Given the description of an element on the screen output the (x, y) to click on. 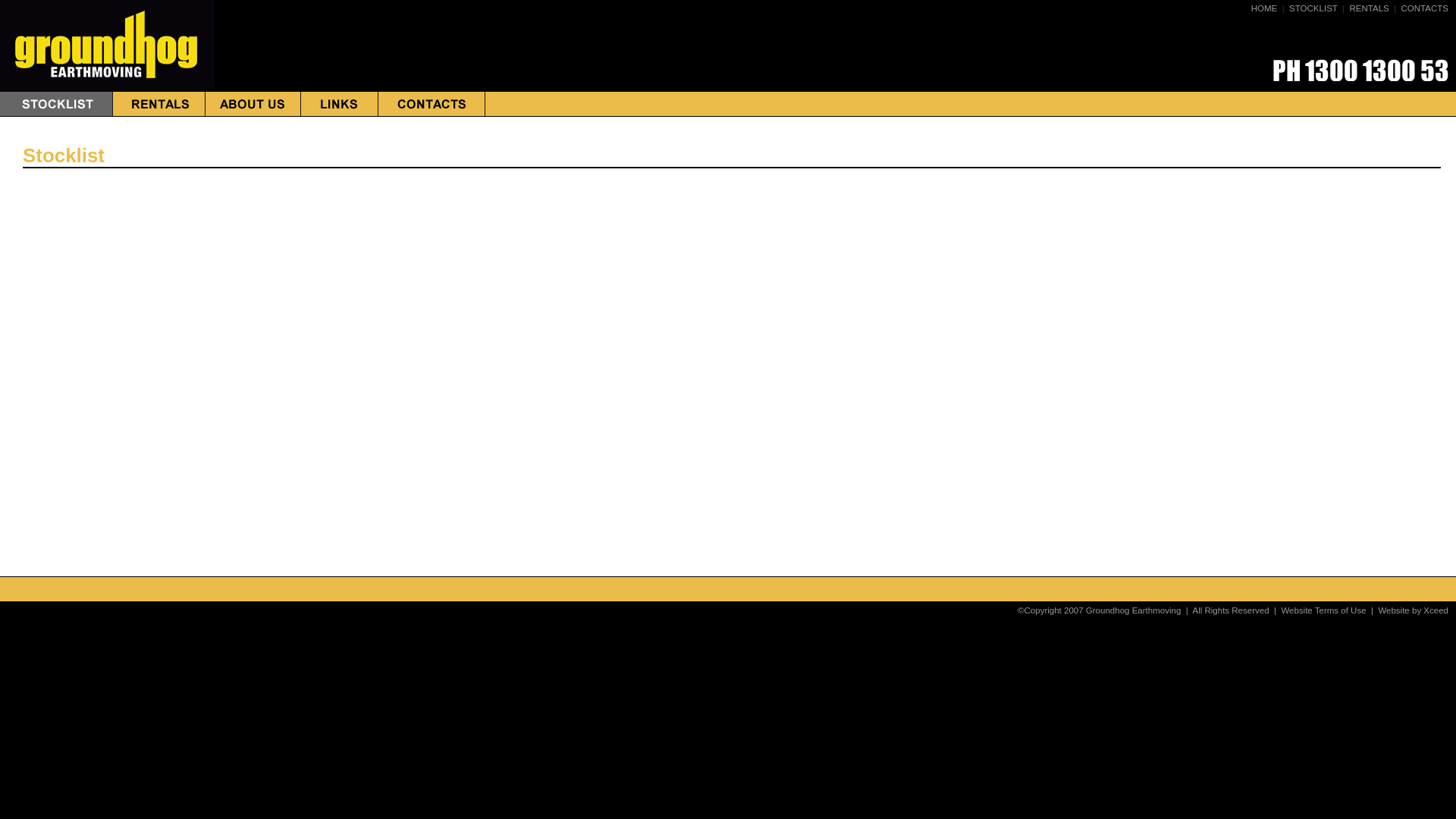
STOCKLIST Element type: hover (56, 112)
ABOUT US Element type: hover (253, 112)
Website Terms of Use Element type: text (1322, 610)
STOCKLIST Element type: text (1313, 7)
RENTALS Element type: text (1368, 7)
RENTALS Element type: hover (158, 112)
CONTACTS Element type: hover (431, 112)
Xceed Element type: text (1435, 610)
Groundhog - Earthmoving Element type: hover (107, 87)
CONTACTS Element type: text (1424, 7)
HOME Element type: text (1264, 7)
LINKS Element type: hover (339, 112)
